Given the description of an element on the screen output the (x, y) to click on. 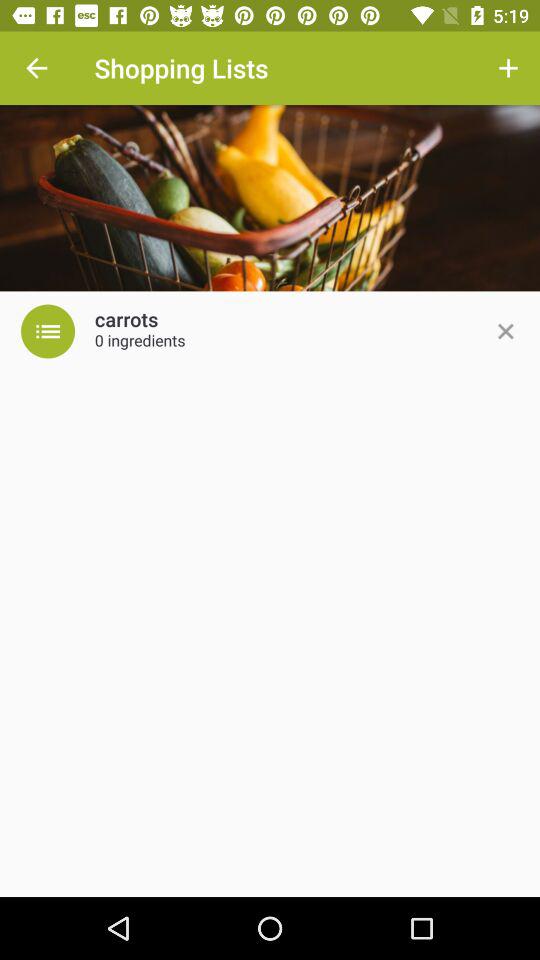
select the icon on the right (505, 331)
